Given the description of an element on the screen output the (x, y) to click on. 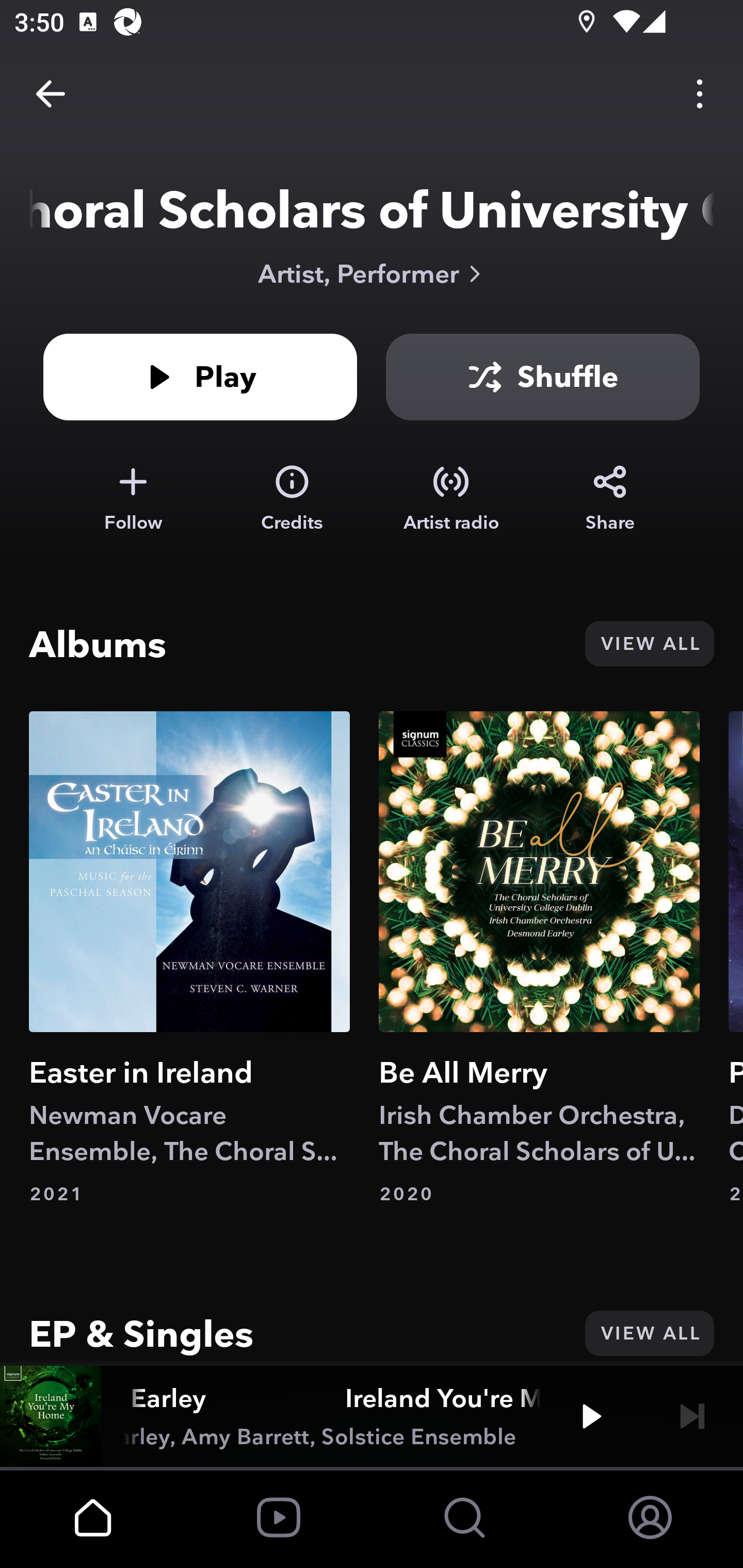
Options (699, 93)
Artist, Performer (371, 273)
Play (200, 376)
Shuffle (542, 376)
Follow (132, 498)
Credits (291, 498)
Artist radio (450, 498)
Share (609, 498)
VIEW ALL (649, 643)
VIEW ALL (649, 1333)
Play (590, 1416)
